Given the description of an element on the screen output the (x, y) to click on. 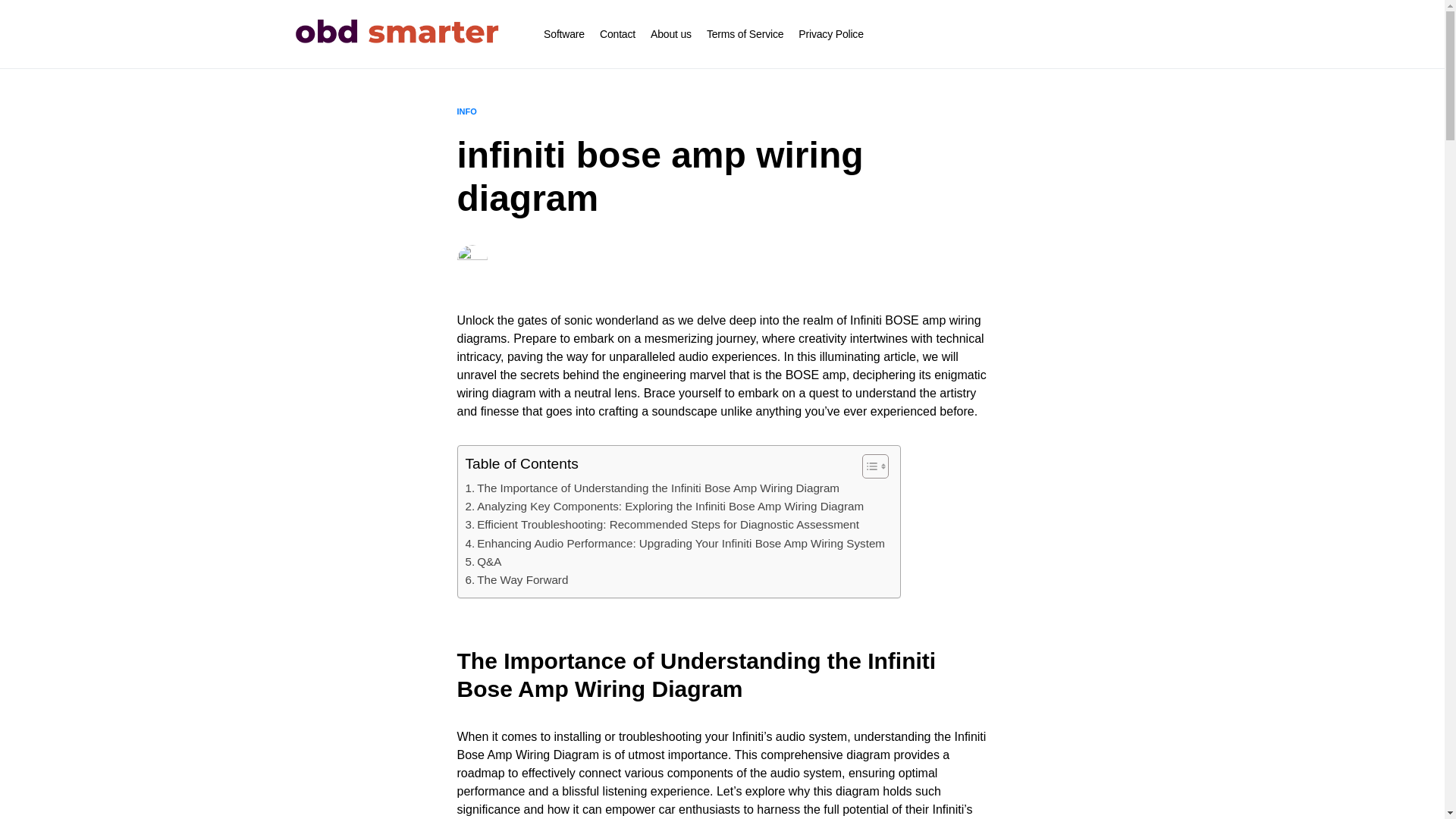
The Way Forward (517, 579)
Terms of Service (744, 33)
INFO (466, 111)
Privacy Police (830, 33)
The Way Forward (517, 579)
